Given the description of an element on the screen output the (x, y) to click on. 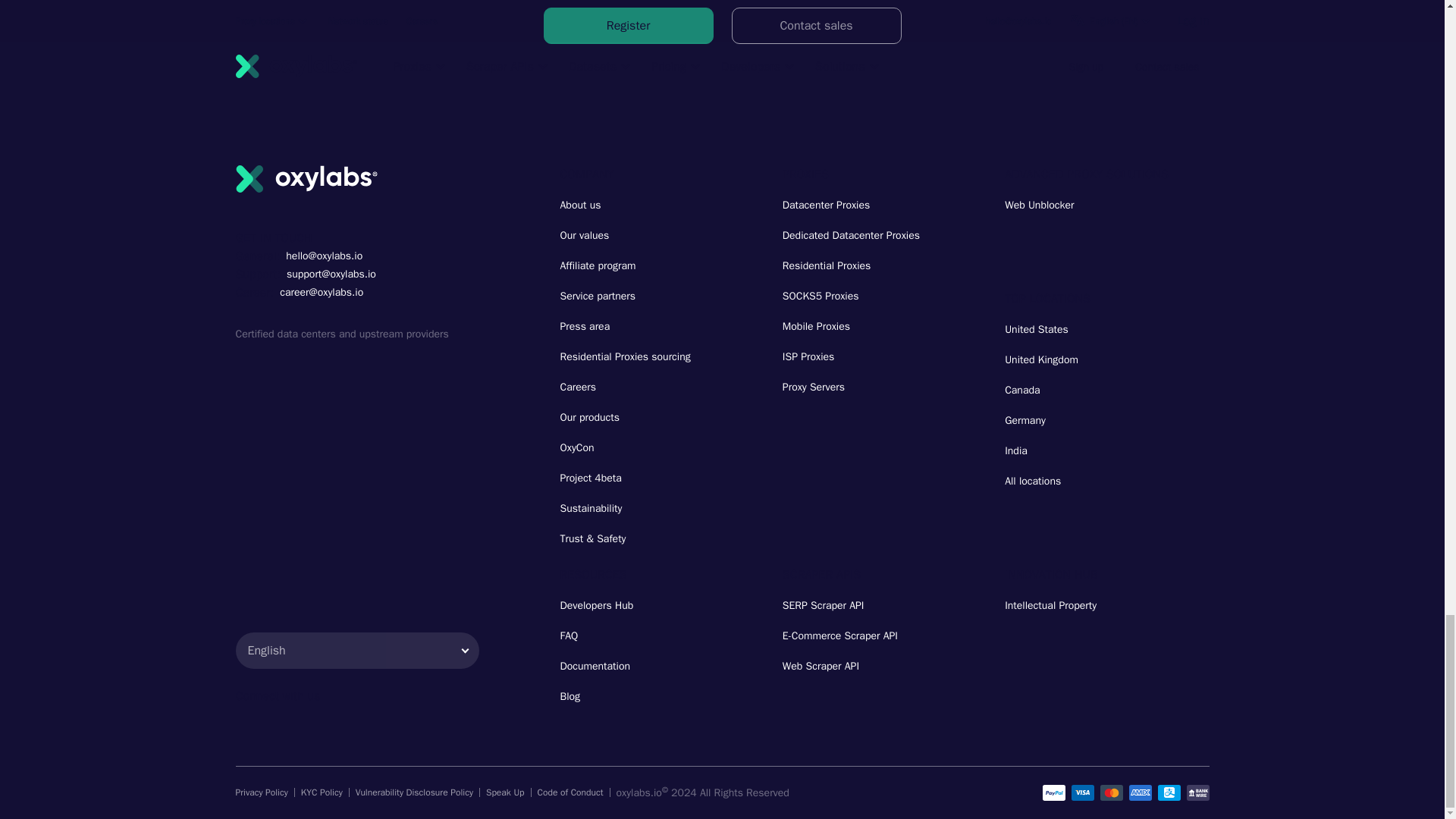
Contact sales (815, 25)
Register (628, 25)
Our values (583, 235)
About us (579, 205)
